Given the description of an element on the screen output the (x, y) to click on. 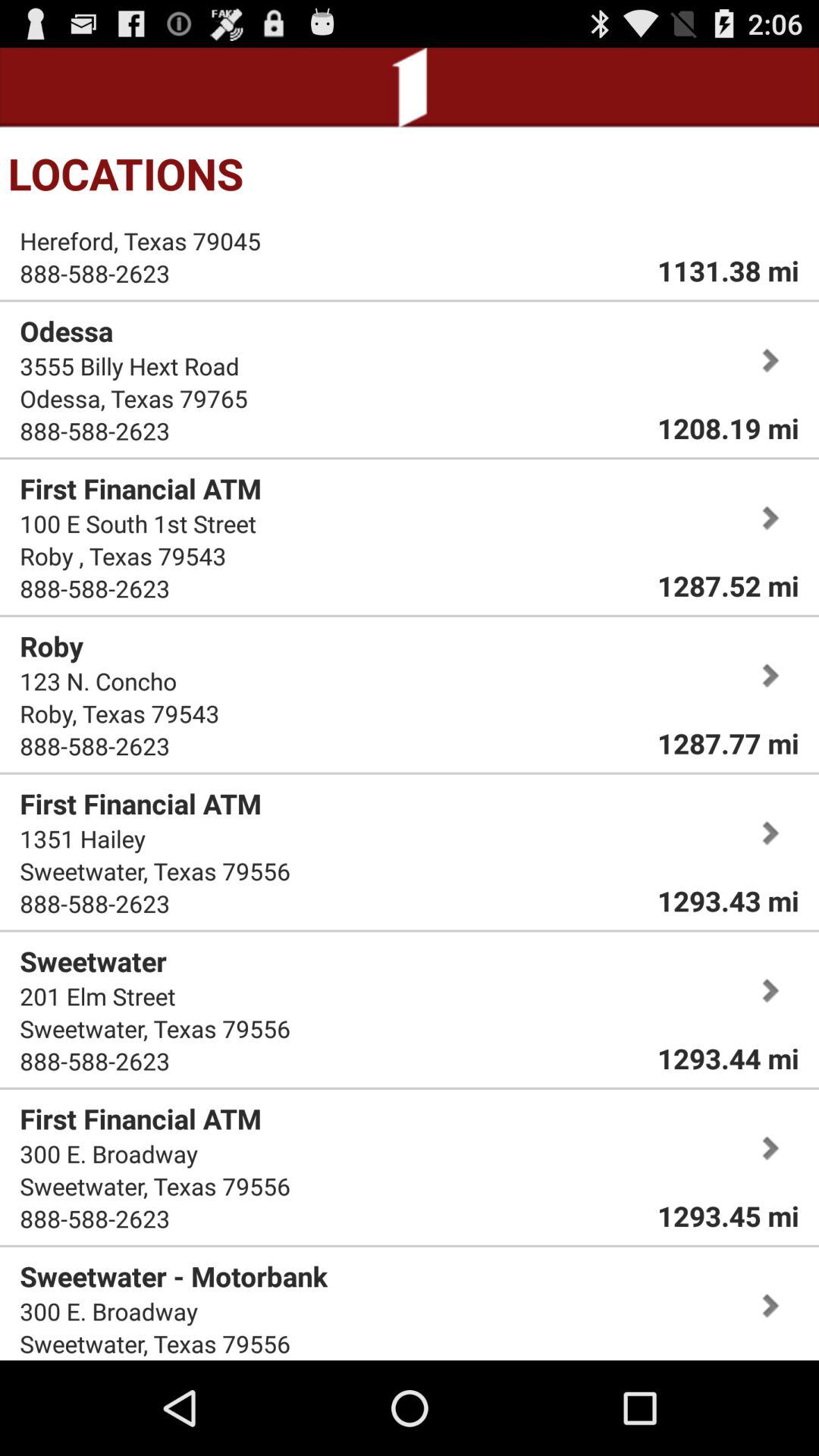
select app below the sweetwater app (97, 995)
